Given the description of an element on the screen output the (x, y) to click on. 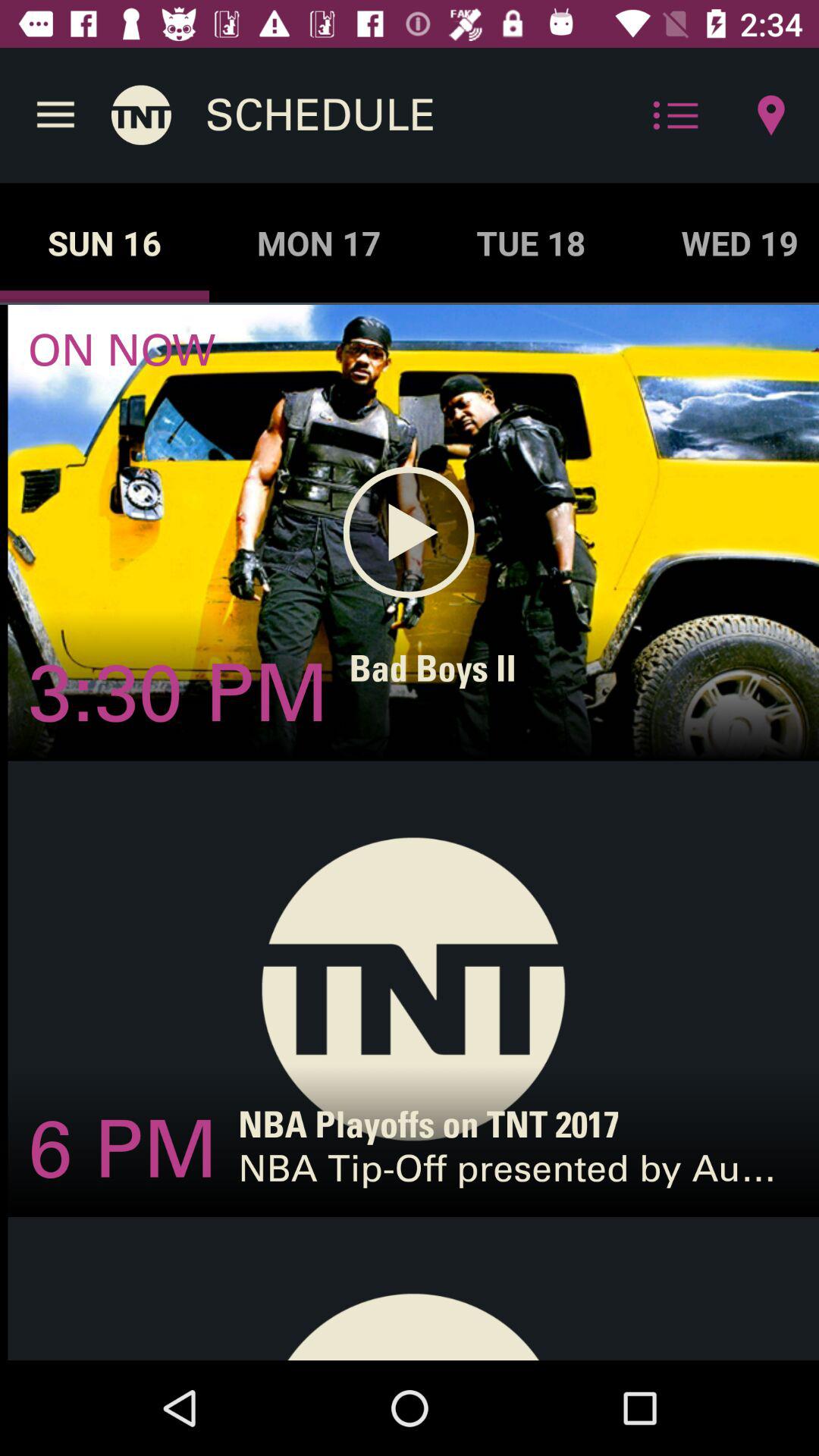
press app to the left of the wed 19 icon (530, 242)
